Given the description of an element on the screen output the (x, y) to click on. 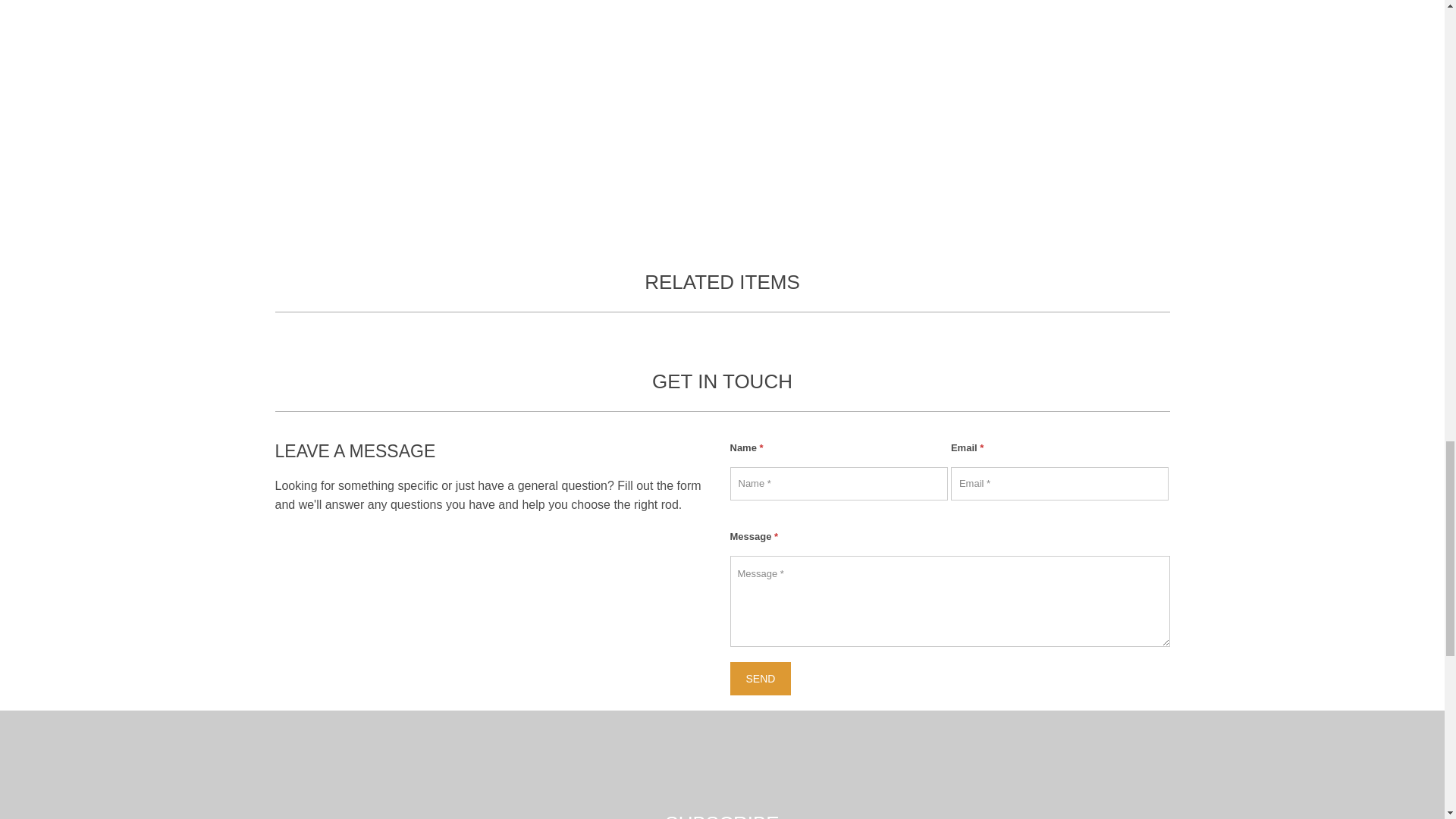
Send (759, 678)
